Given the description of an element on the screen output the (x, y) to click on. 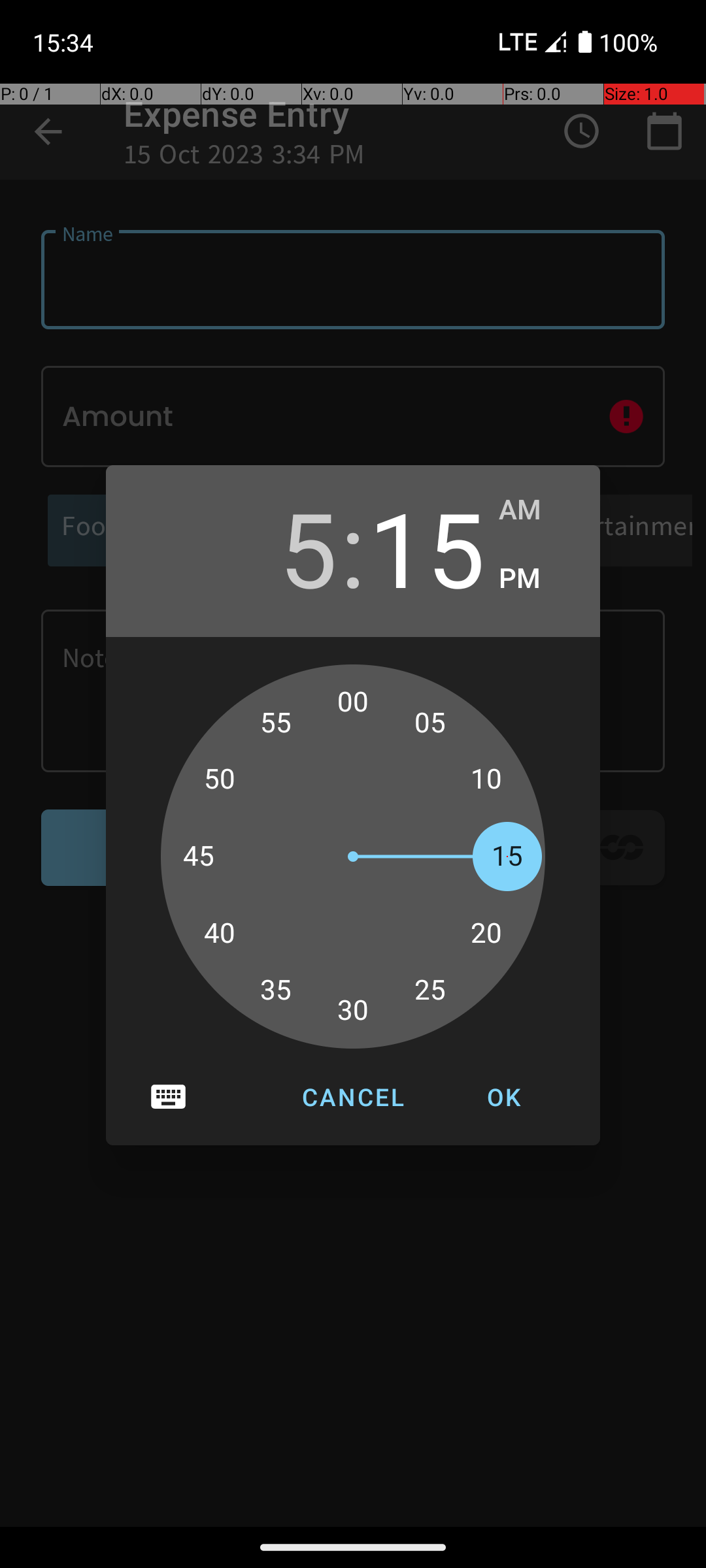
34 Element type: android.widget.RadialTimePickerView$RadialPickerTouchHelper (289, 996)
